Given the description of an element on the screen output the (x, y) to click on. 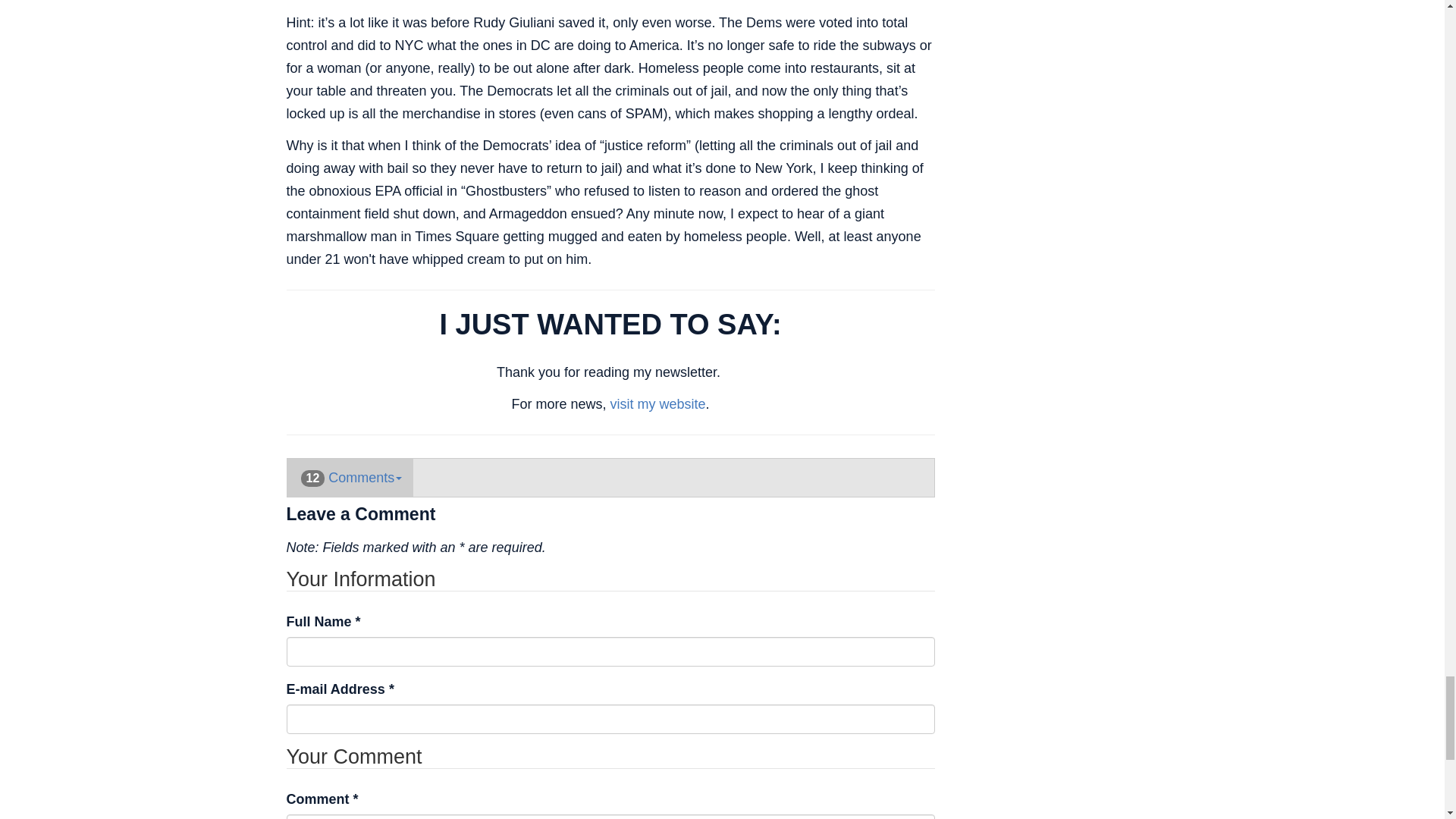
visit my website (657, 403)
12 Comments (349, 477)
